Given the description of an element on the screen output the (x, y) to click on. 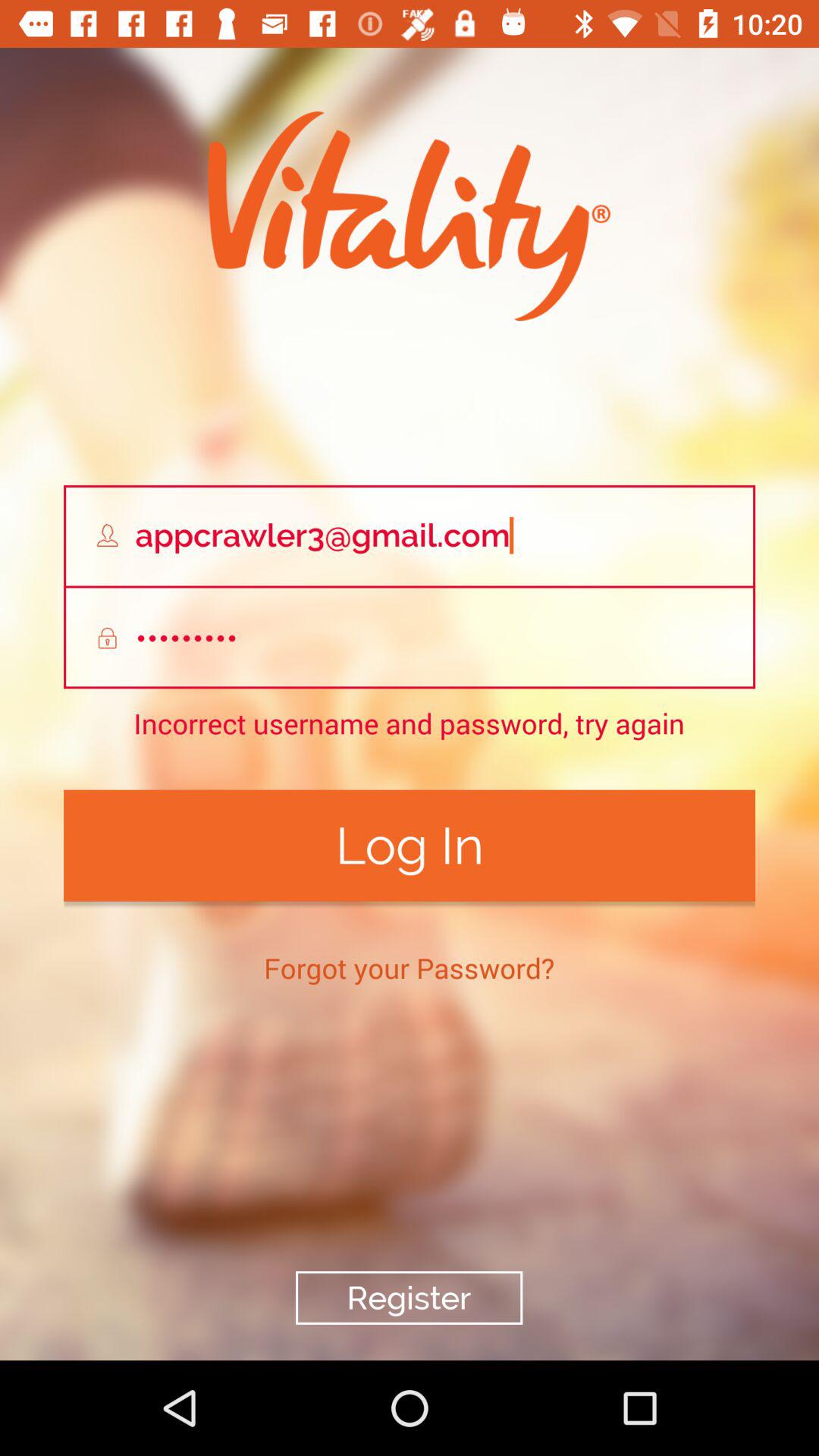
press log in (409, 845)
